Given the description of an element on the screen output the (x, y) to click on. 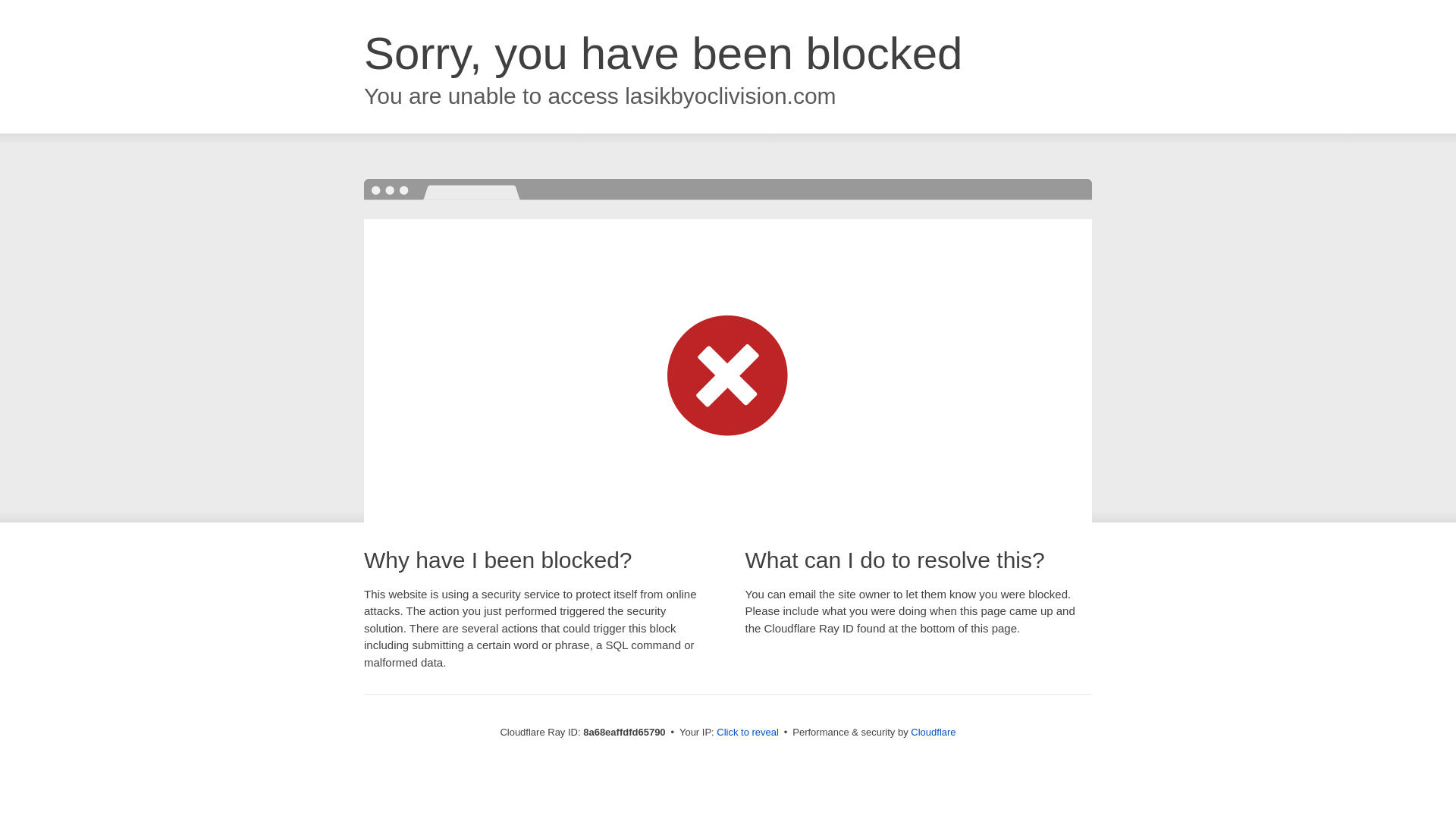
Cloudflare (933, 731)
Click to reveal (747, 732)
